Given the description of an element on the screen output the (x, y) to click on. 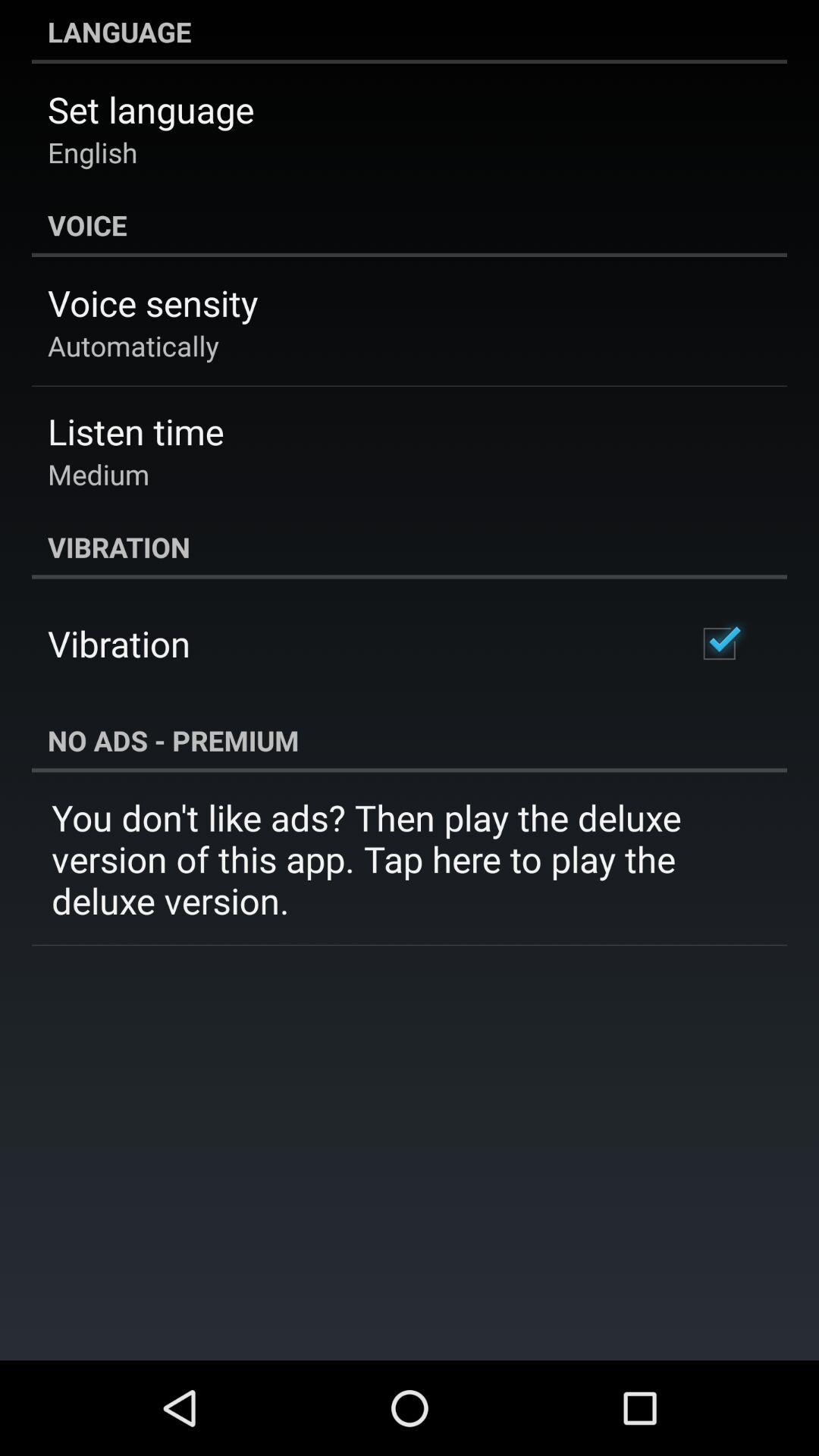
click the app above no ads - premium item (719, 643)
